Given the description of an element on the screen output the (x, y) to click on. 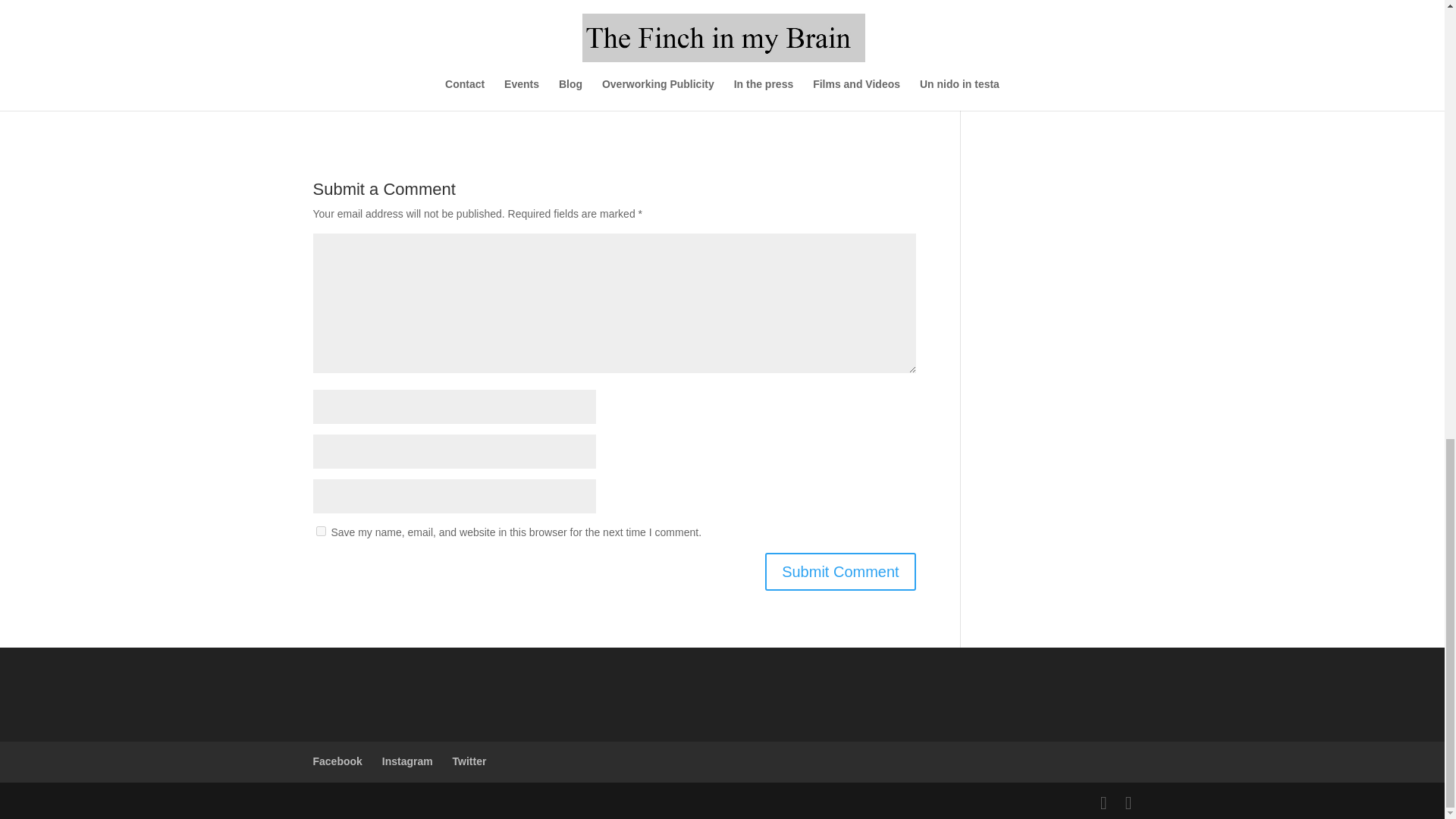
Submit Comment (840, 571)
Submit Comment (840, 571)
Instagram (406, 761)
Facebook (337, 761)
yes (319, 531)
Twitter (469, 761)
